Given the description of an element on the screen output the (x, y) to click on. 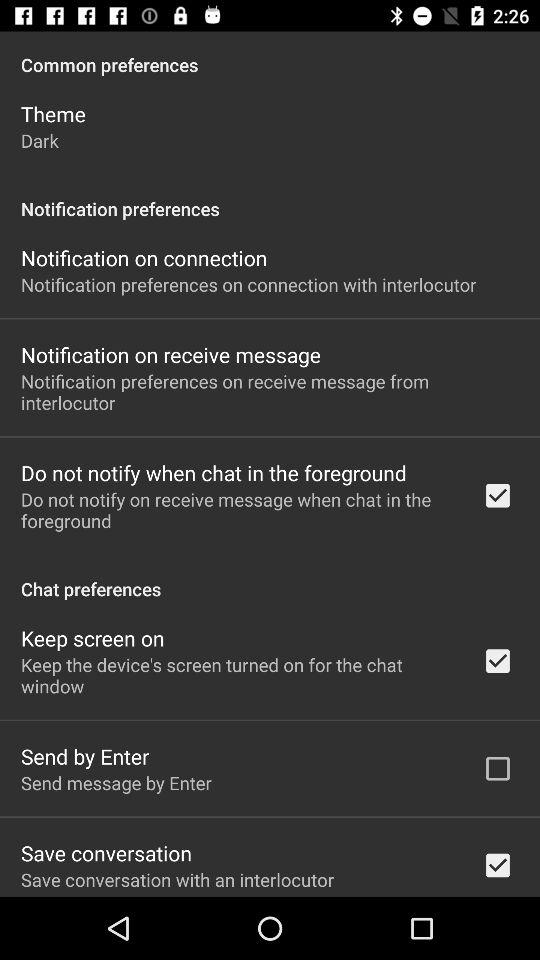
launch icon above notification preferences item (39, 140)
